Given the description of an element on the screen output the (x, y) to click on. 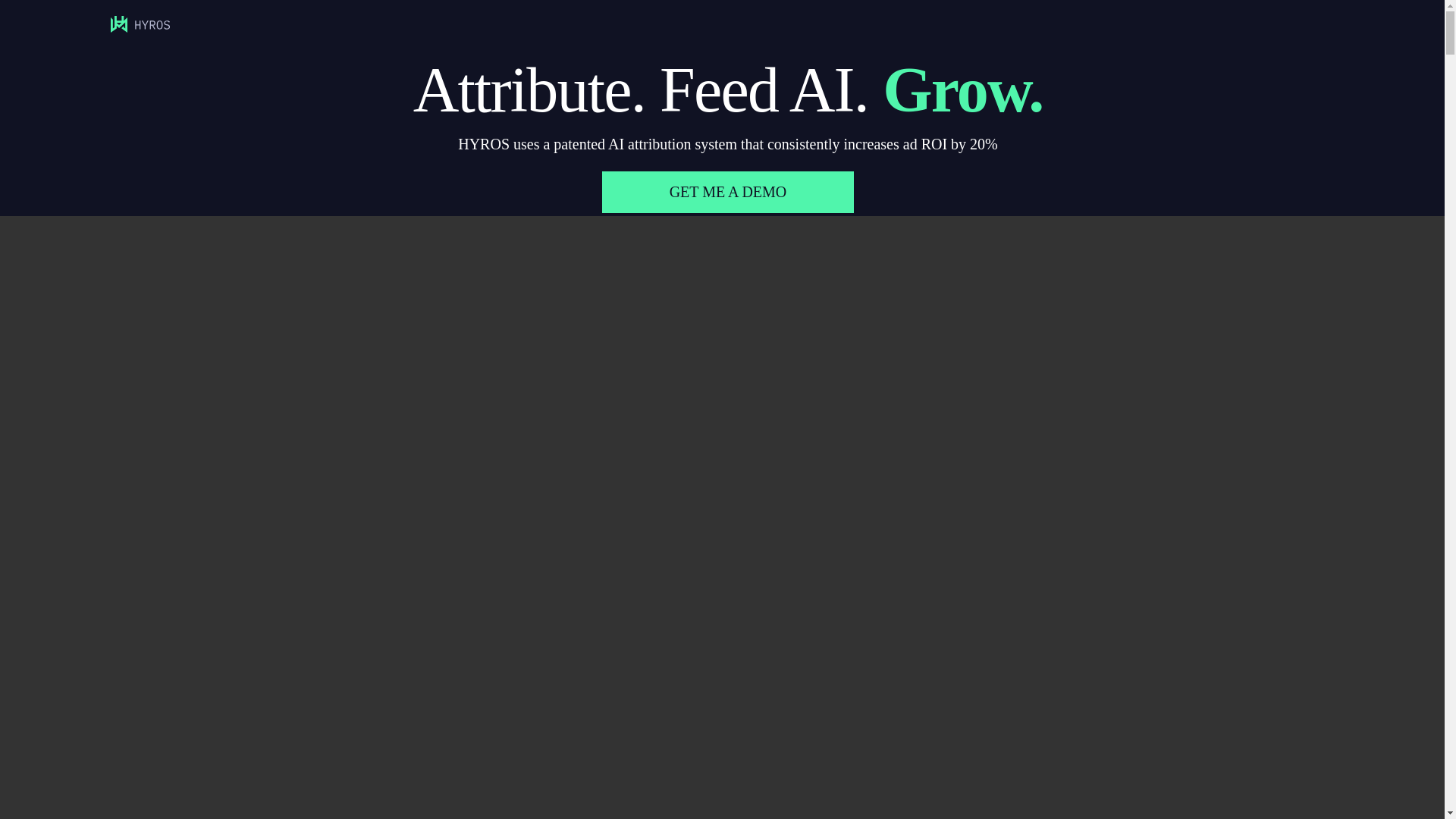
GET ME A DEMO (728, 191)
